Given the description of an element on the screen output the (x, y) to click on. 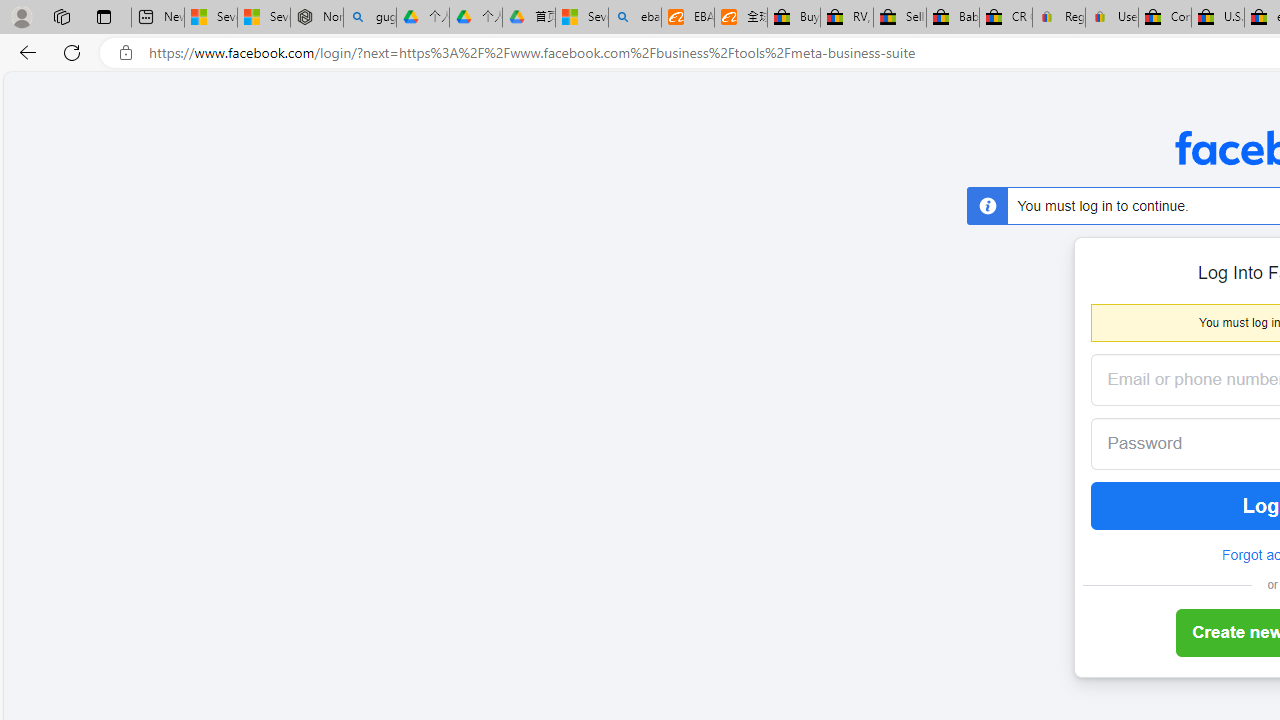
U.S. State Privacy Disclosures - eBay Inc. (1217, 17)
Sell worldwide with eBay (899, 17)
Buy Auto Parts & Accessories | eBay (794, 17)
